Given the description of an element on the screen output the (x, y) to click on. 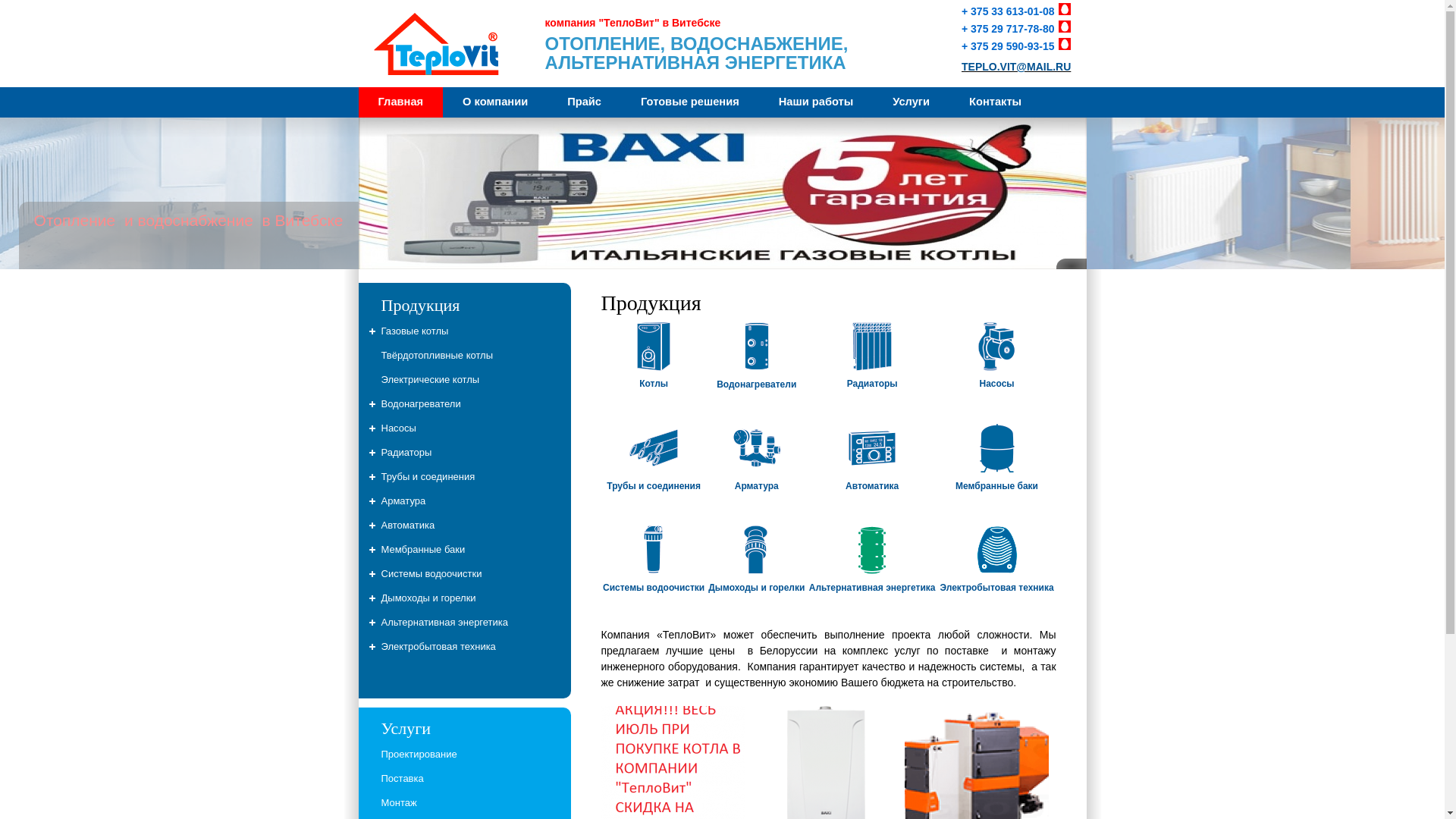
+ 375 29 717-78-80  Element type: text (1016, 28)
TEPLO.VIT@MAIL.RU Element type: text (1015, 66)
+ 375 29 590-93-15  Element type: text (1016, 46)
+ 375 33 613-01-08  Element type: text (1016, 11)
